Given the description of an element on the screen output the (x, y) to click on. 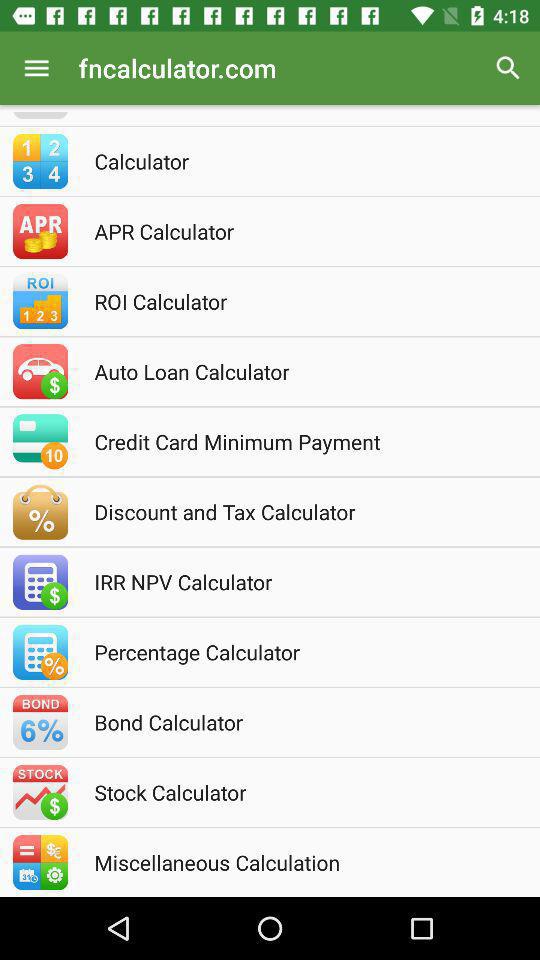
flip to the irr npv calculator (297, 581)
